Given the description of an element on the screen output the (x, y) to click on. 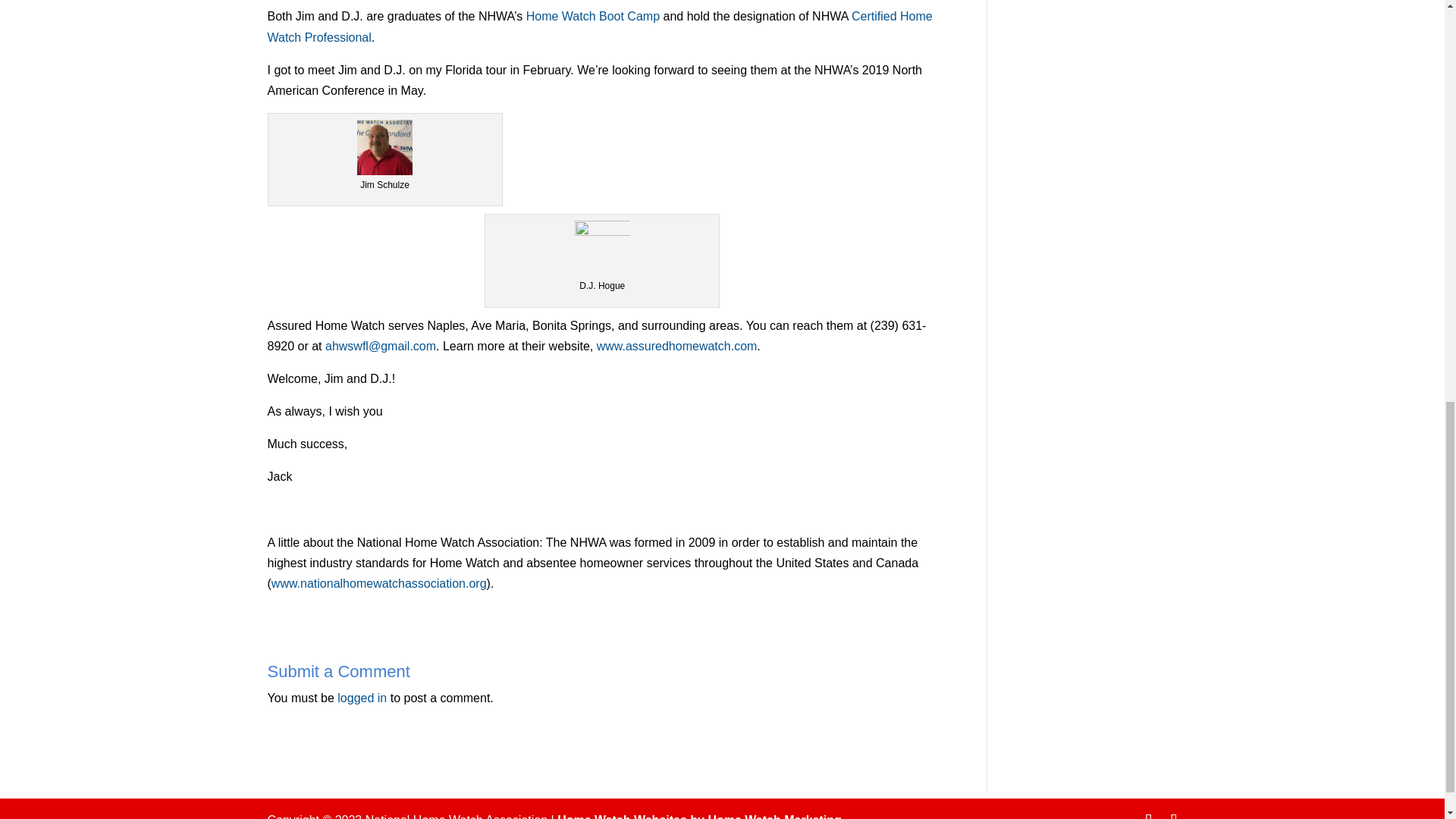
www.nationalhomewatchassociation.org (378, 583)
Certified Home Watch Professional (598, 26)
Home Watch Websites by Home Watch Marketing (699, 816)
www.assuredhomewatch.com (676, 345)
Home Watch Boot Camp (592, 15)
logged in (362, 697)
